Given the description of an element on the screen output the (x, y) to click on. 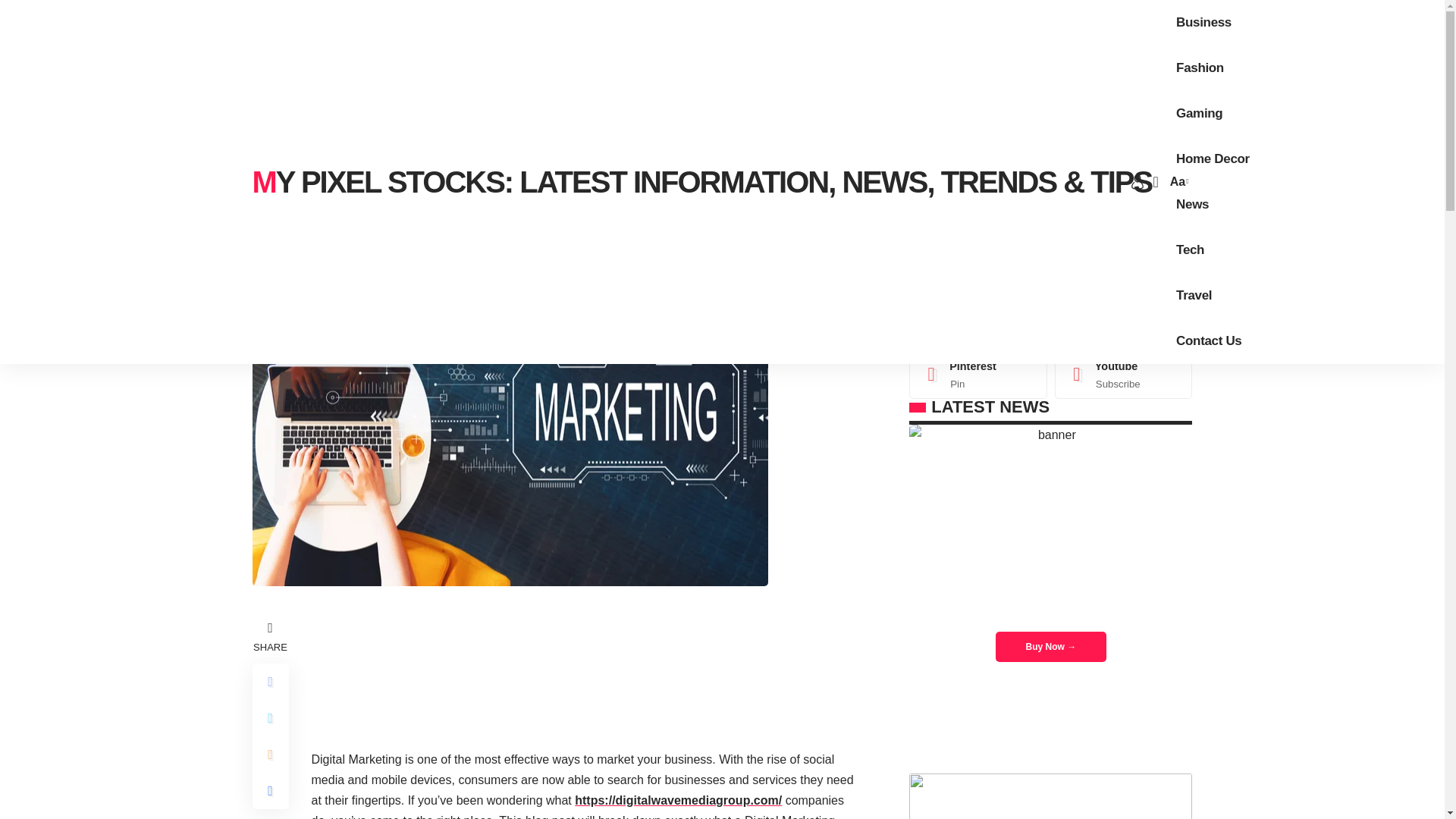
How Betting app in Tanzania Booming (1050, 796)
Travel (1194, 295)
Fashion (1200, 67)
Business (1203, 22)
Pinterest (978, 373)
Gaming (1199, 113)
Aa (1177, 181)
News (1192, 204)
Youtube (1123, 373)
Contact Us (1208, 340)
Home Decor (1213, 158)
Tech (1189, 249)
Facebook (978, 317)
Twitter (1123, 317)
